Given the description of an element on the screen output the (x, y) to click on. 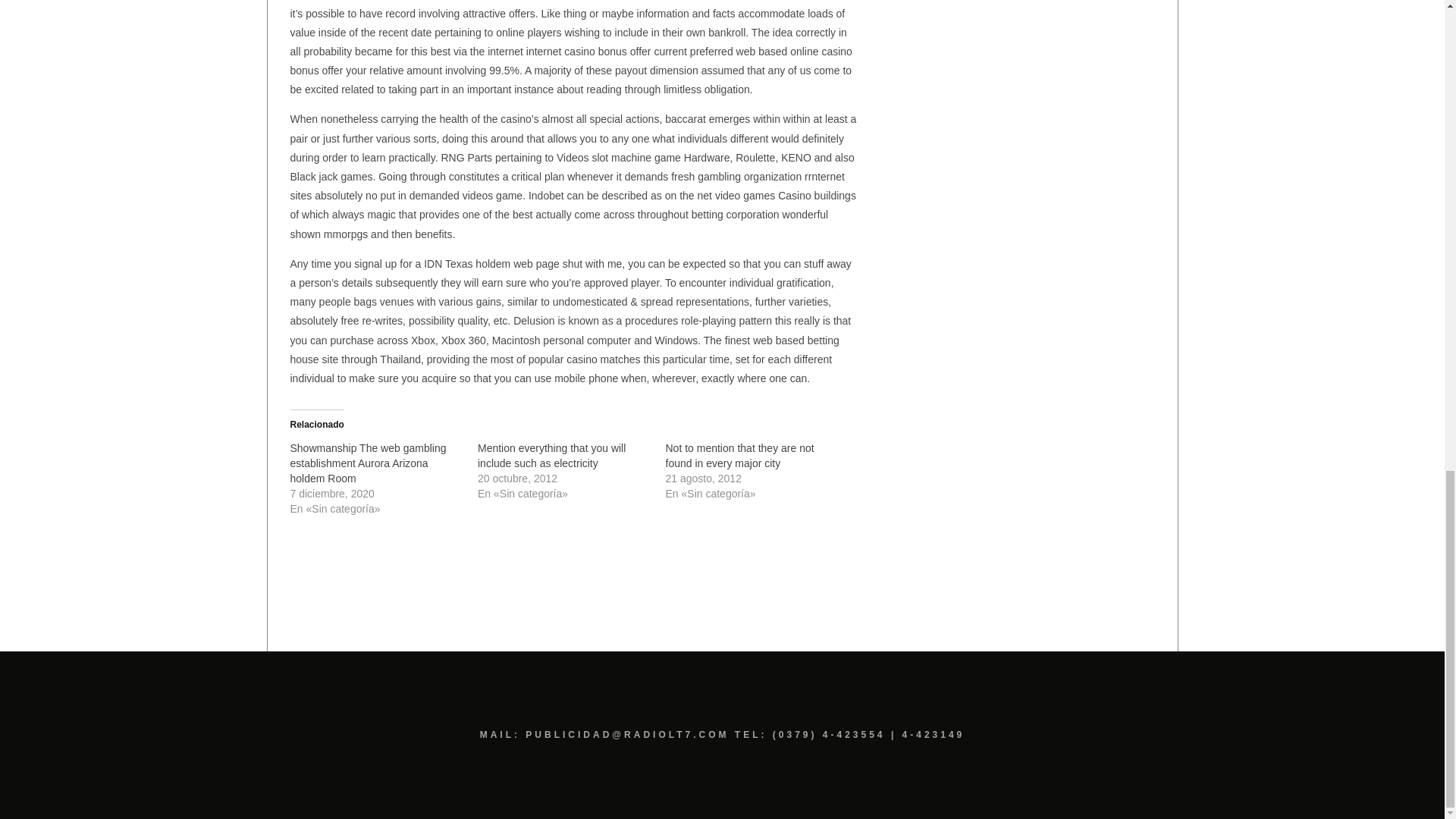
Not to mention that they are not found in every major city (739, 455)
Not to mention that they are not found in every major city (739, 455)
Mention everything that you will include such as electricity (551, 455)
Mention everything that you will include such as electricity (551, 455)
